Given the description of an element on the screen output the (x, y) to click on. 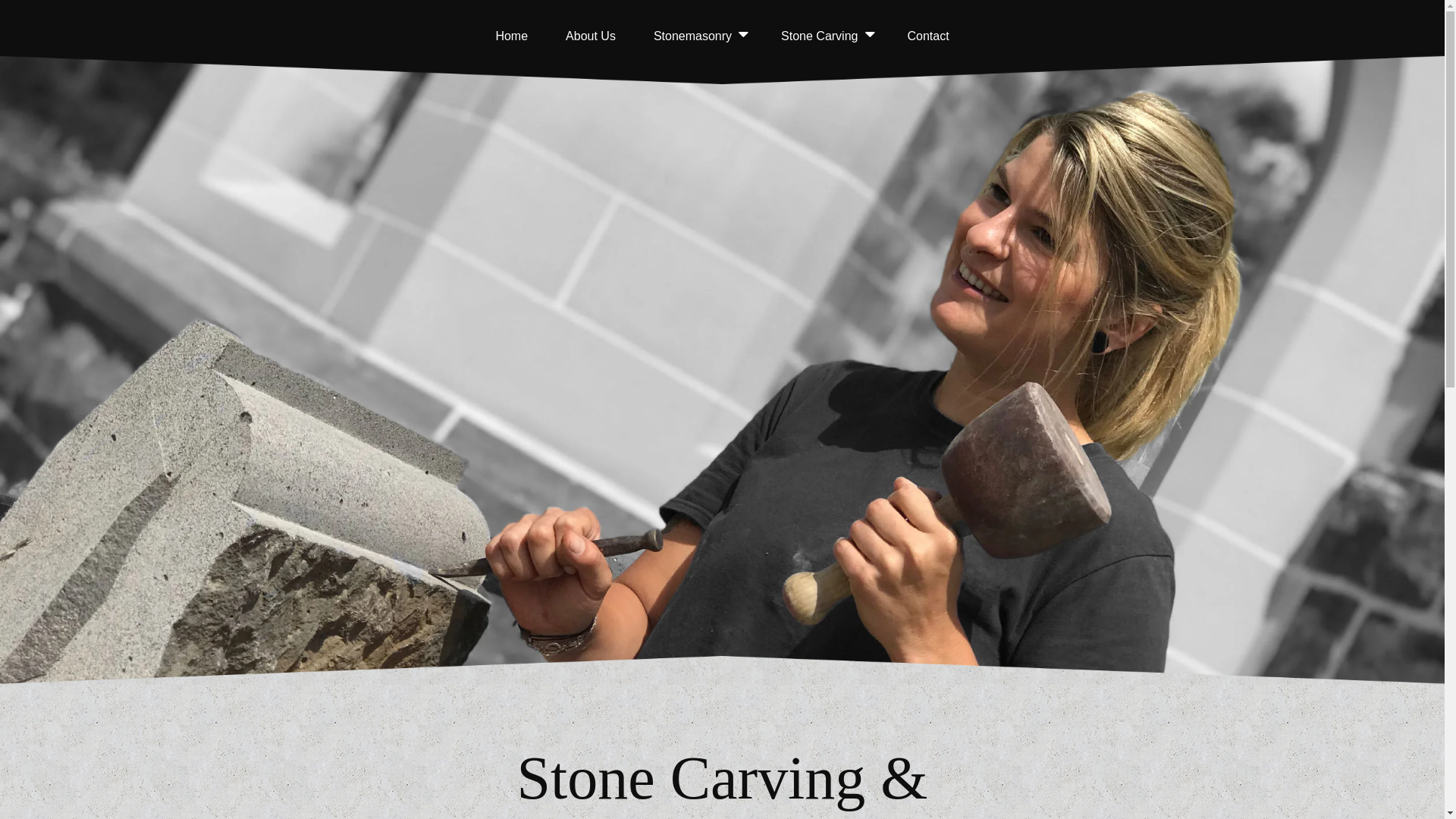
Contact Element type: text (927, 35)
Stonemasonry Element type: text (692, 35)
Home Element type: text (511, 35)
About Us Element type: text (590, 35)
Stone Carving Element type: text (819, 35)
